Given the description of an element on the screen output the (x, y) to click on. 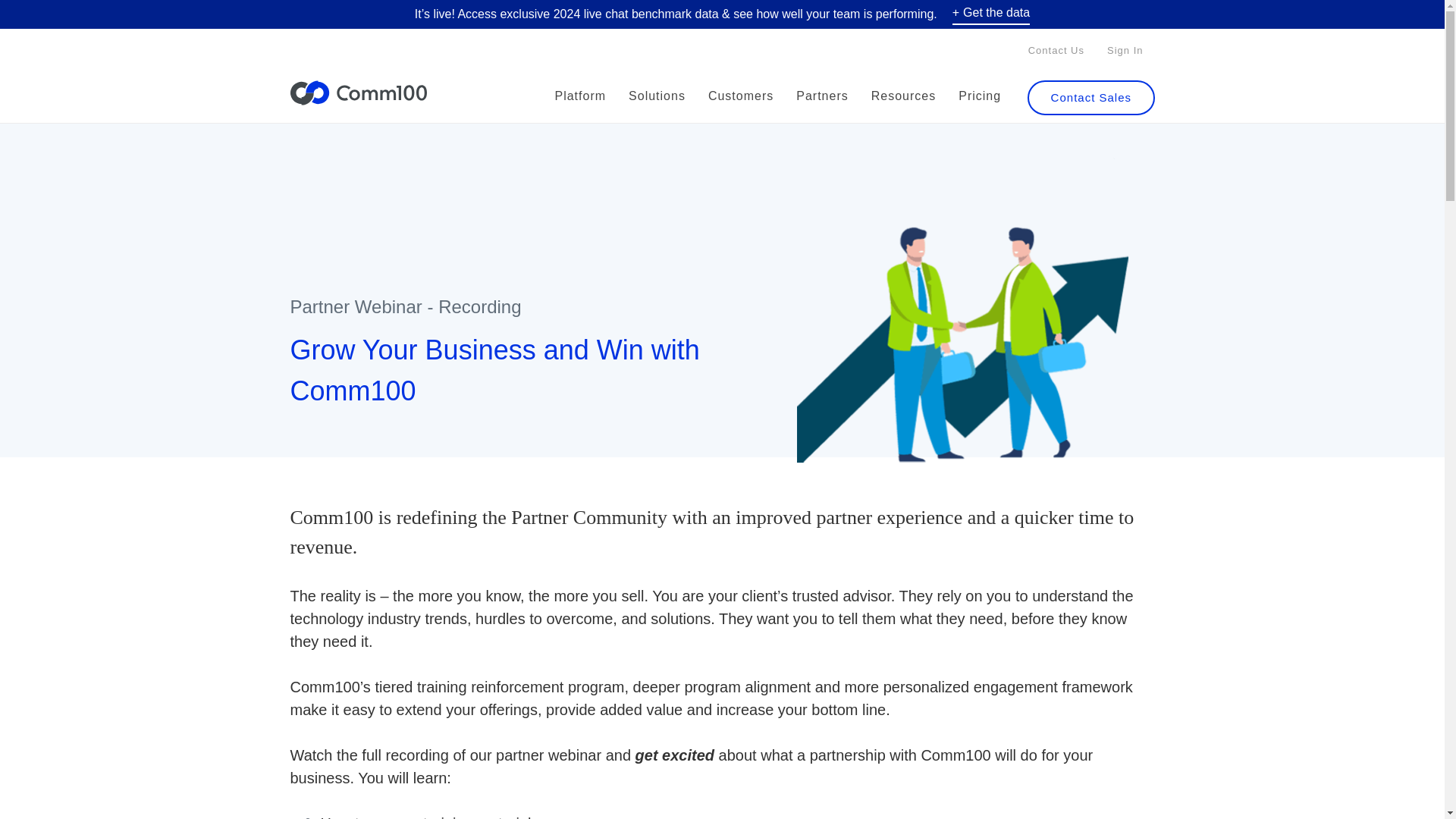
Contact Sales (1090, 97)
Contact Us (1056, 50)
Sign In (1125, 50)
Get the data (990, 14)
